Given the description of an element on the screen output the (x, y) to click on. 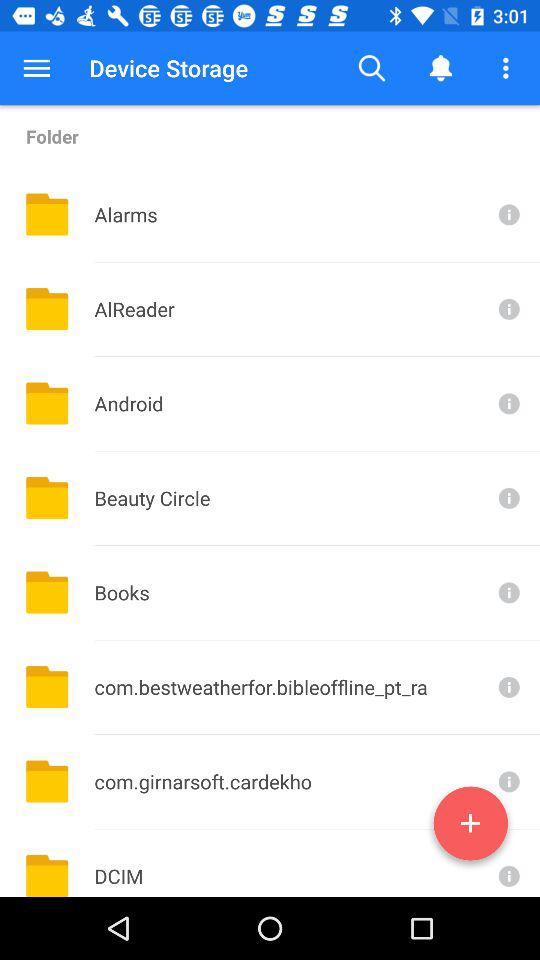
view folder information (507, 781)
